Given the description of an element on the screen output the (x, y) to click on. 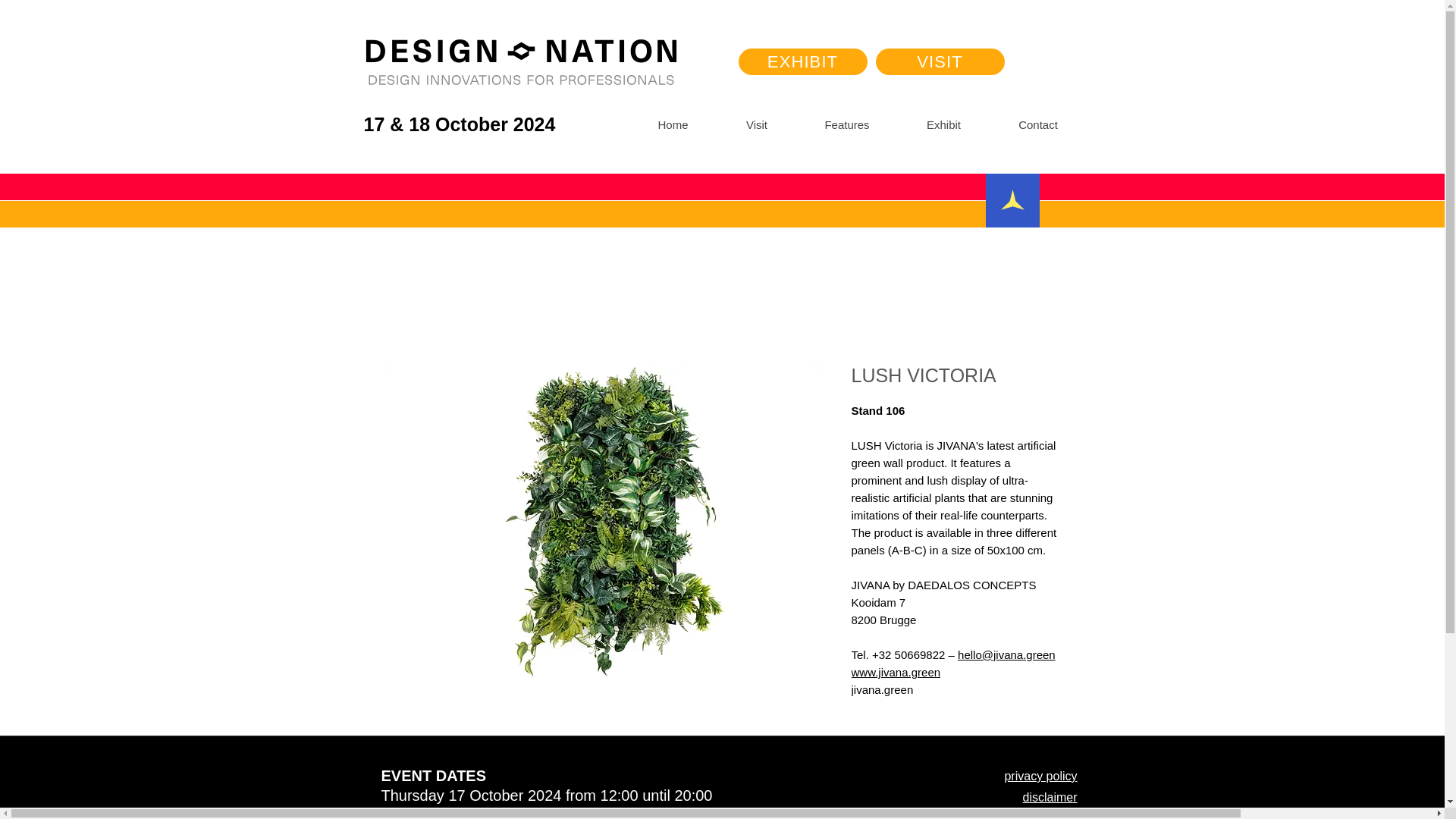
www.jivana.green (895, 671)
disclaimer (1049, 797)
Contact (1037, 124)
VISIT (939, 61)
privacy policy (1040, 775)
Home (672, 124)
EXHIBIT (802, 61)
